Given the description of an element on the screen output the (x, y) to click on. 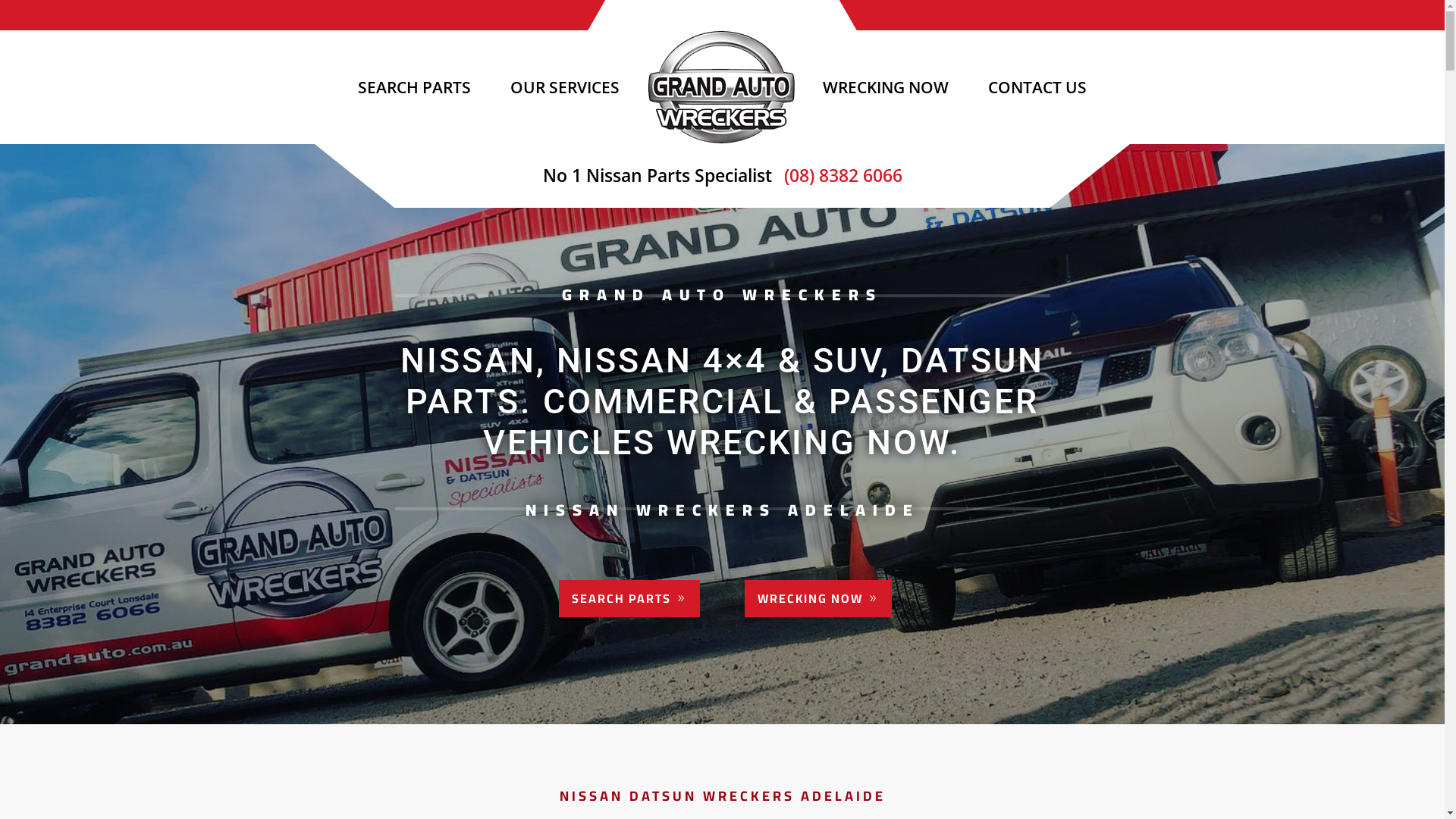
WRECKING NOW Element type: text (817, 598)
SEARCH PARTS Element type: text (628, 598)
CONTACT US Element type: text (1037, 87)
(08) 8382 6066 Element type: text (839, 175)
SEARCH PARTS Element type: text (414, 87)
OUR SERVICES Element type: text (564, 87)
WRECKING NOW Element type: text (885, 87)
